Given the description of an element on the screen output the (x, y) to click on. 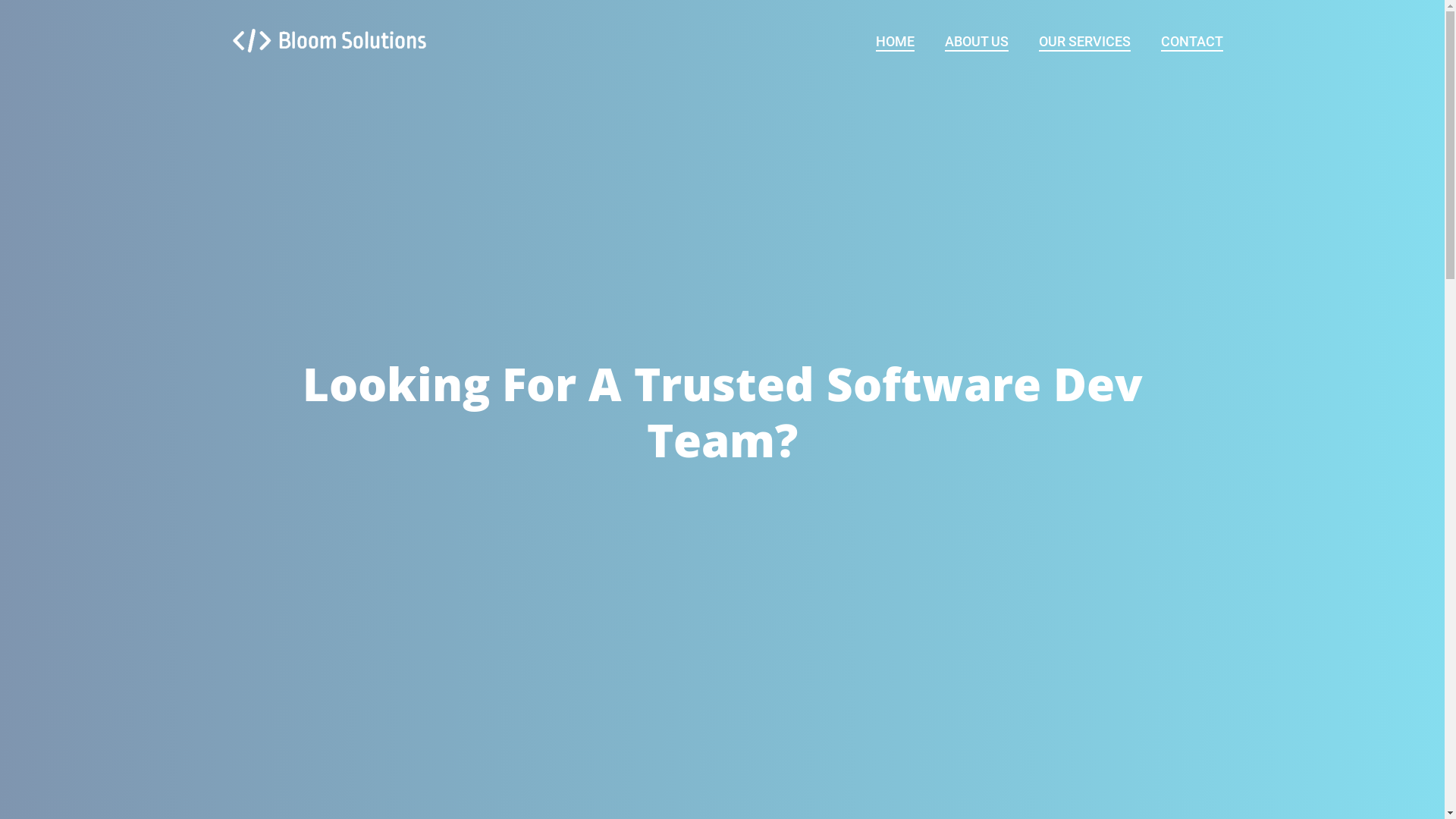
CONTACT Element type: text (1191, 41)
ABOUT US Element type: text (976, 41)
OUR SERVICES Element type: text (1084, 41)
HOME Element type: text (894, 41)
